Given the description of an element on the screen output the (x, y) to click on. 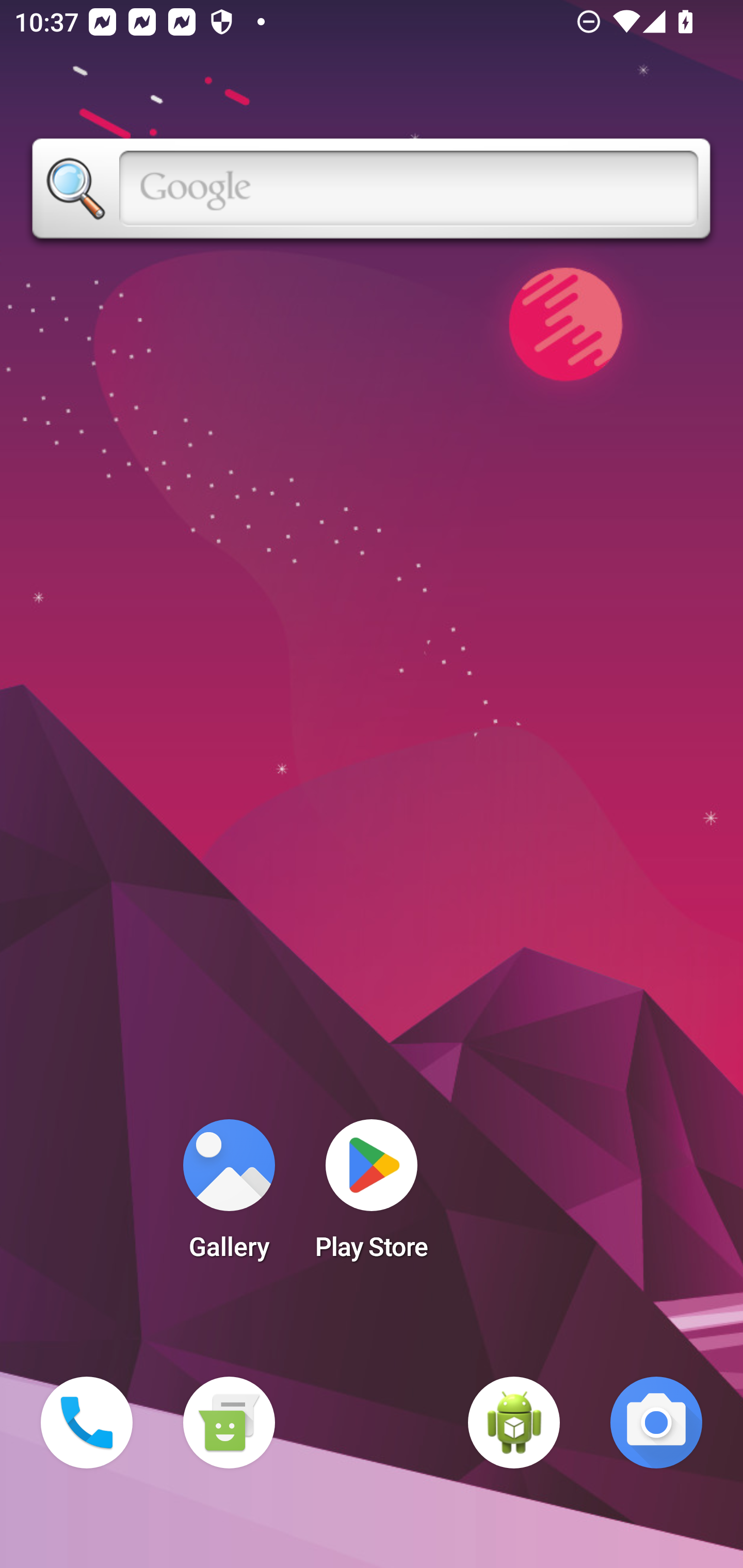
Gallery (228, 1195)
Play Store (371, 1195)
Phone (86, 1422)
Messaging (228, 1422)
WebView Browser Tester (513, 1422)
Camera (656, 1422)
